Given the description of an element on the screen output the (x, y) to click on. 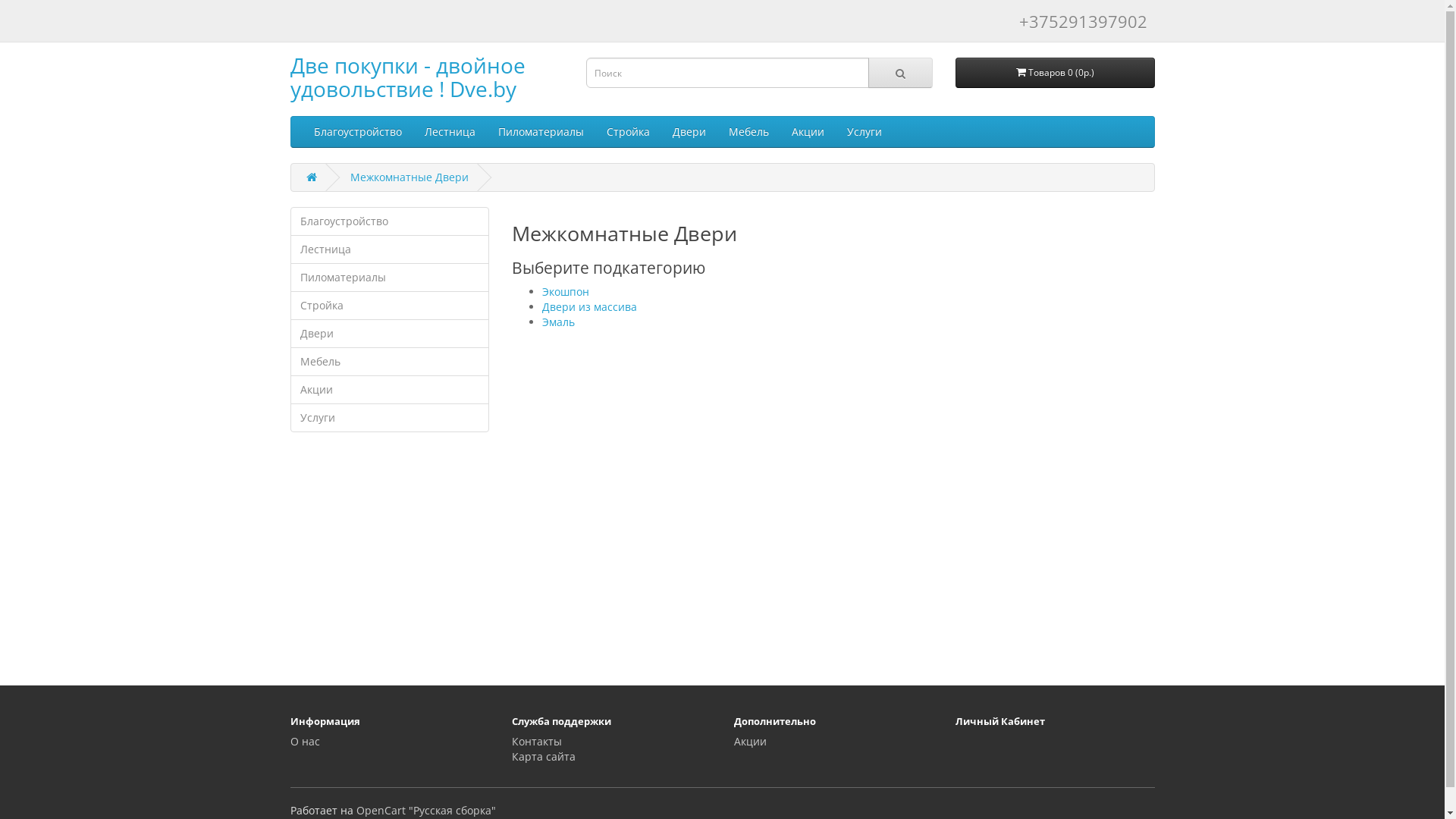
+375291397902 Element type: text (1083, 20)
